Given the description of an element on the screen output the (x, y) to click on. 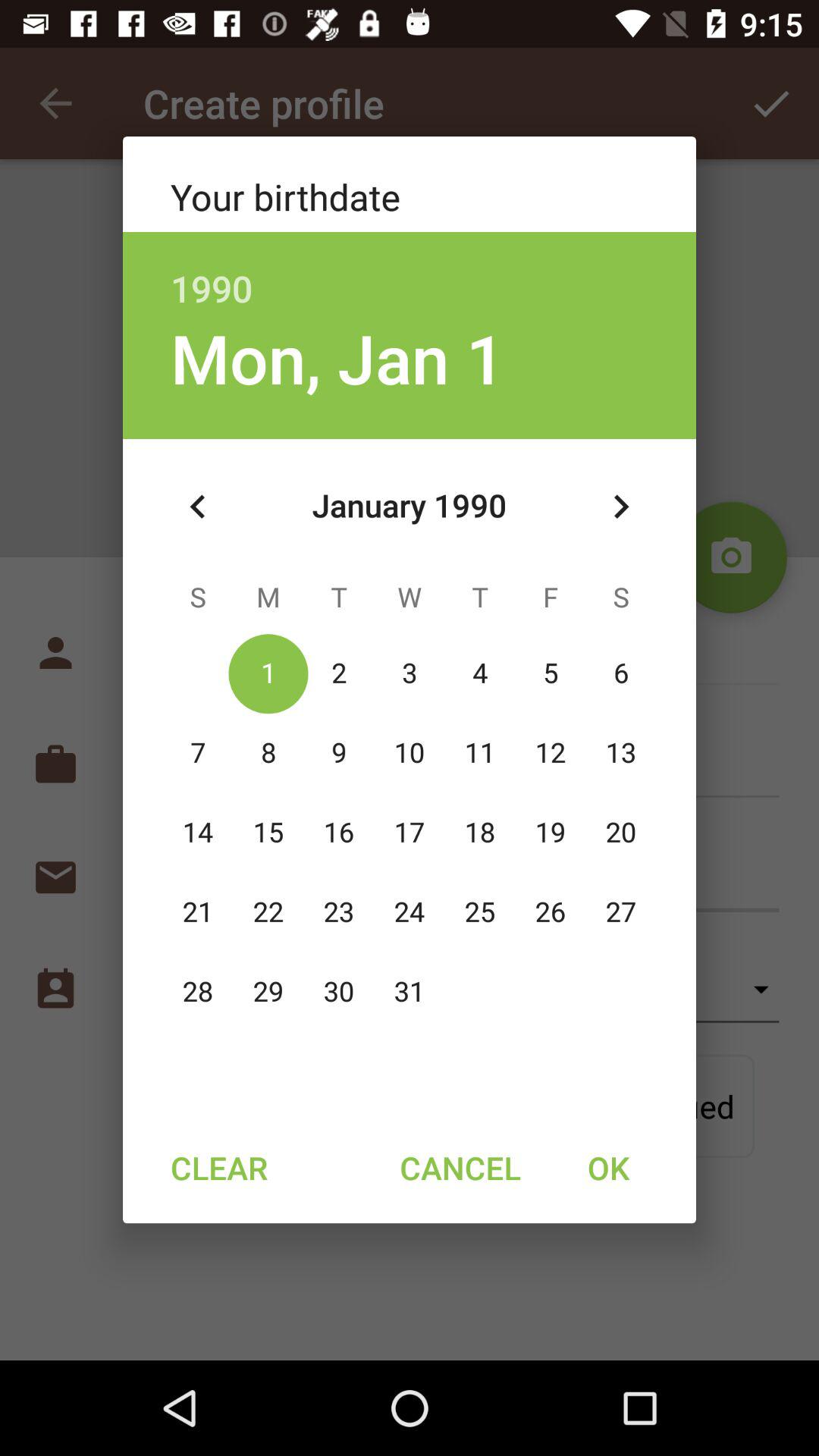
turn off the item below 1990 item (337, 357)
